Given the description of an element on the screen output the (x, y) to click on. 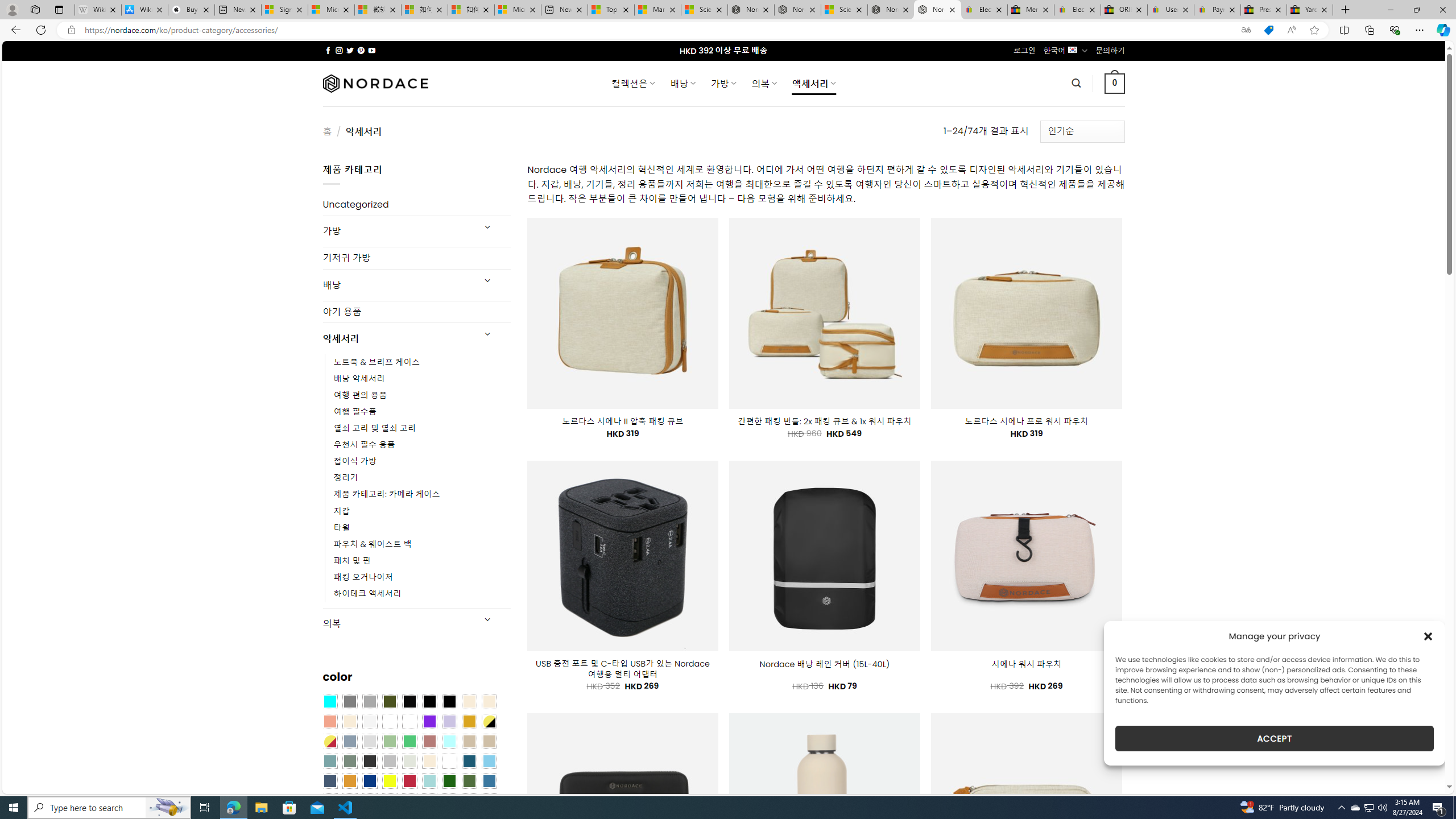
Follow on Pinterest (360, 50)
Follow on Twitter (349, 50)
Uncategorized (416, 204)
